Given the description of an element on the screen output the (x, y) to click on. 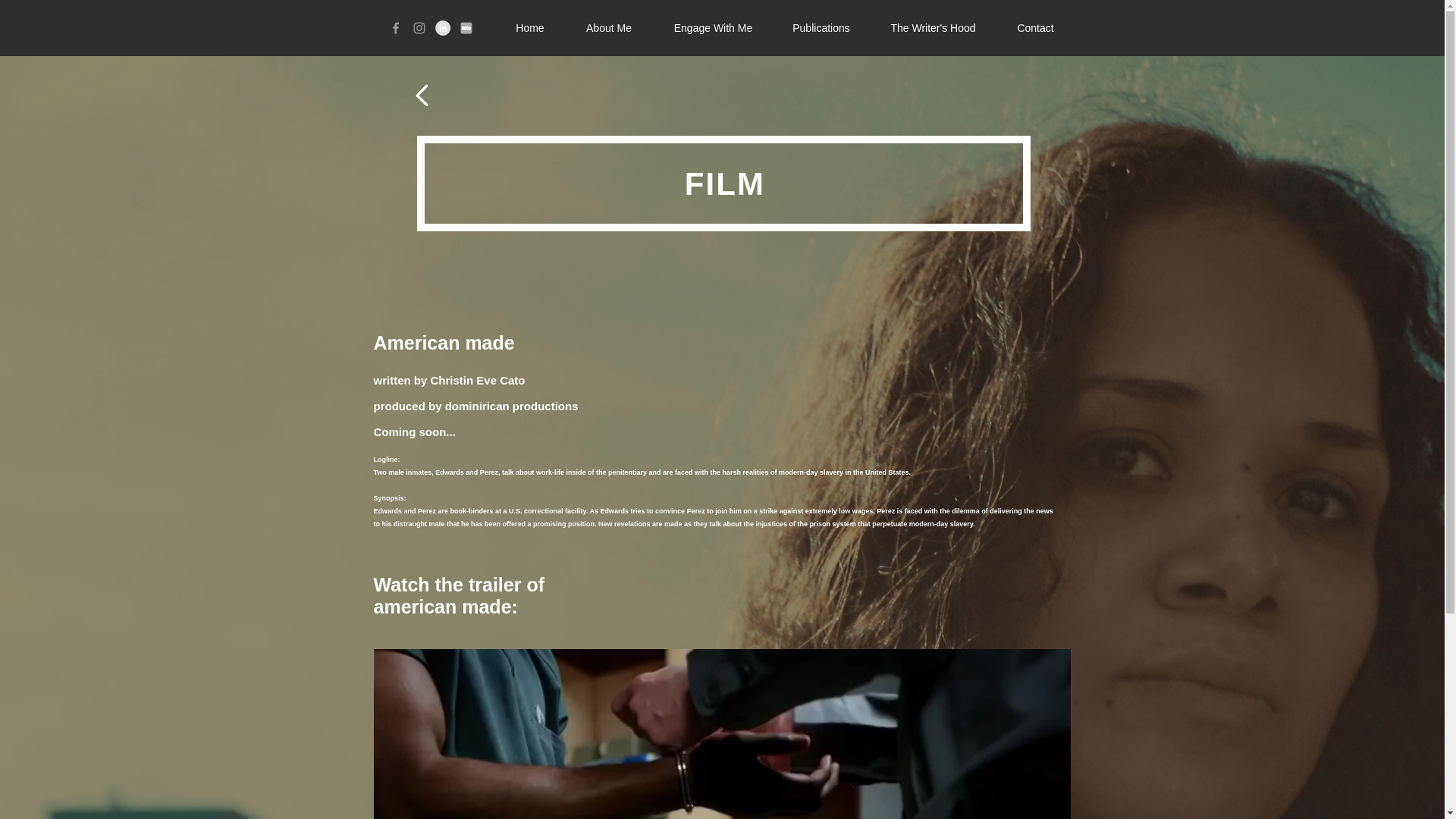
Engage With Me (713, 27)
Publications (821, 27)
Home (530, 27)
The Writer's Hood (932, 27)
Contact (1034, 27)
About Me (608, 27)
